Given the description of an element on the screen output the (x, y) to click on. 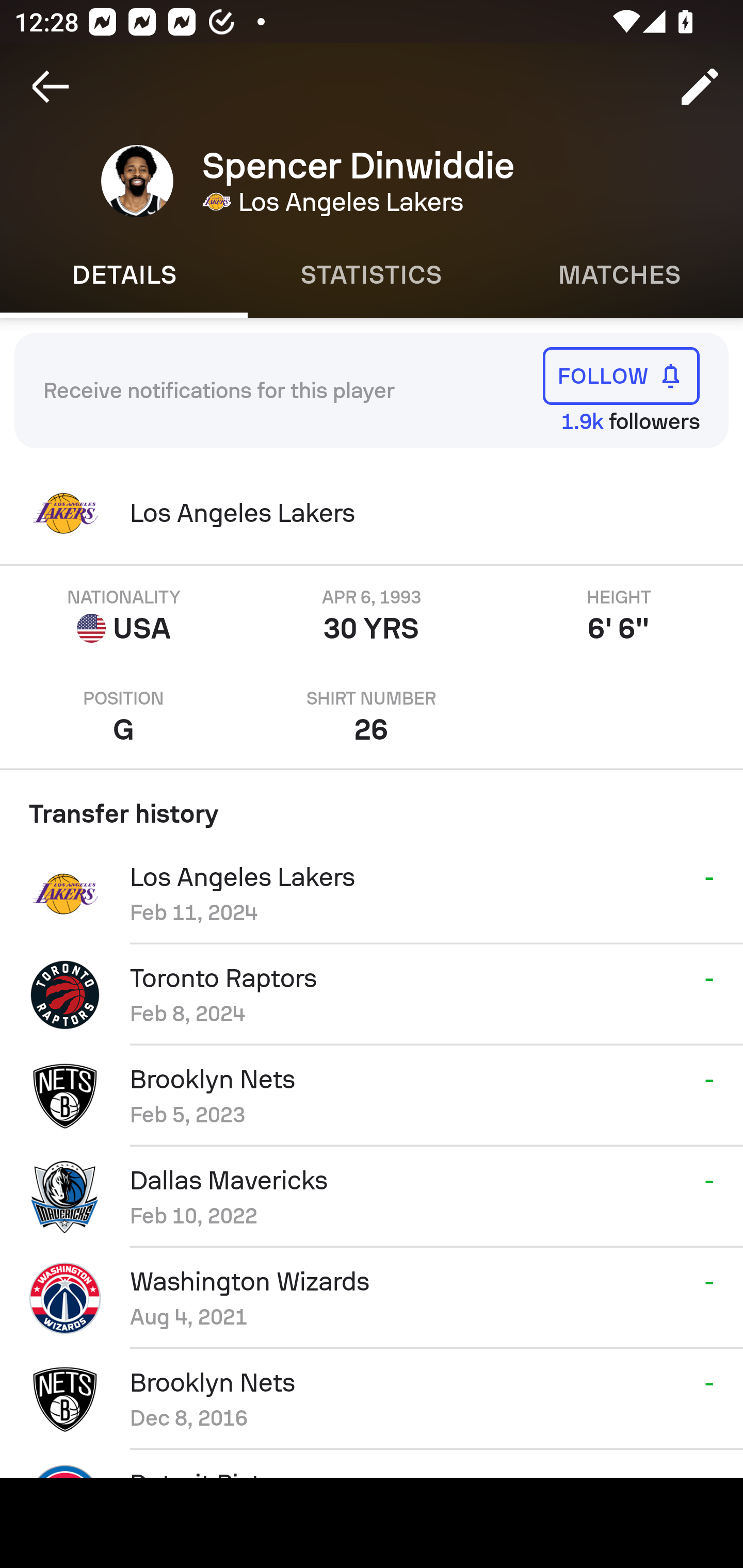
Navigate up (50, 86)
Edit (699, 86)
Statistics STATISTICS (371, 275)
Matches MATCHES (619, 275)
FOLLOW (621, 375)
Los Angeles Lakers (371, 513)
NATIONALITY USA (123, 616)
POSITION G (123, 717)
Transfer history (371, 806)
Los Angeles Lakers - Feb 11, 2024 (371, 893)
Toronto Raptors - Feb 8, 2024 (371, 994)
Brooklyn Nets - Feb 5, 2023 (371, 1095)
Dallas Mavericks - Feb 10, 2022 (371, 1197)
Washington Wizards - Aug 4, 2021 (371, 1298)
Brooklyn Nets - Dec 8, 2016 (371, 1399)
